Given the description of an element on the screen output the (x, y) to click on. 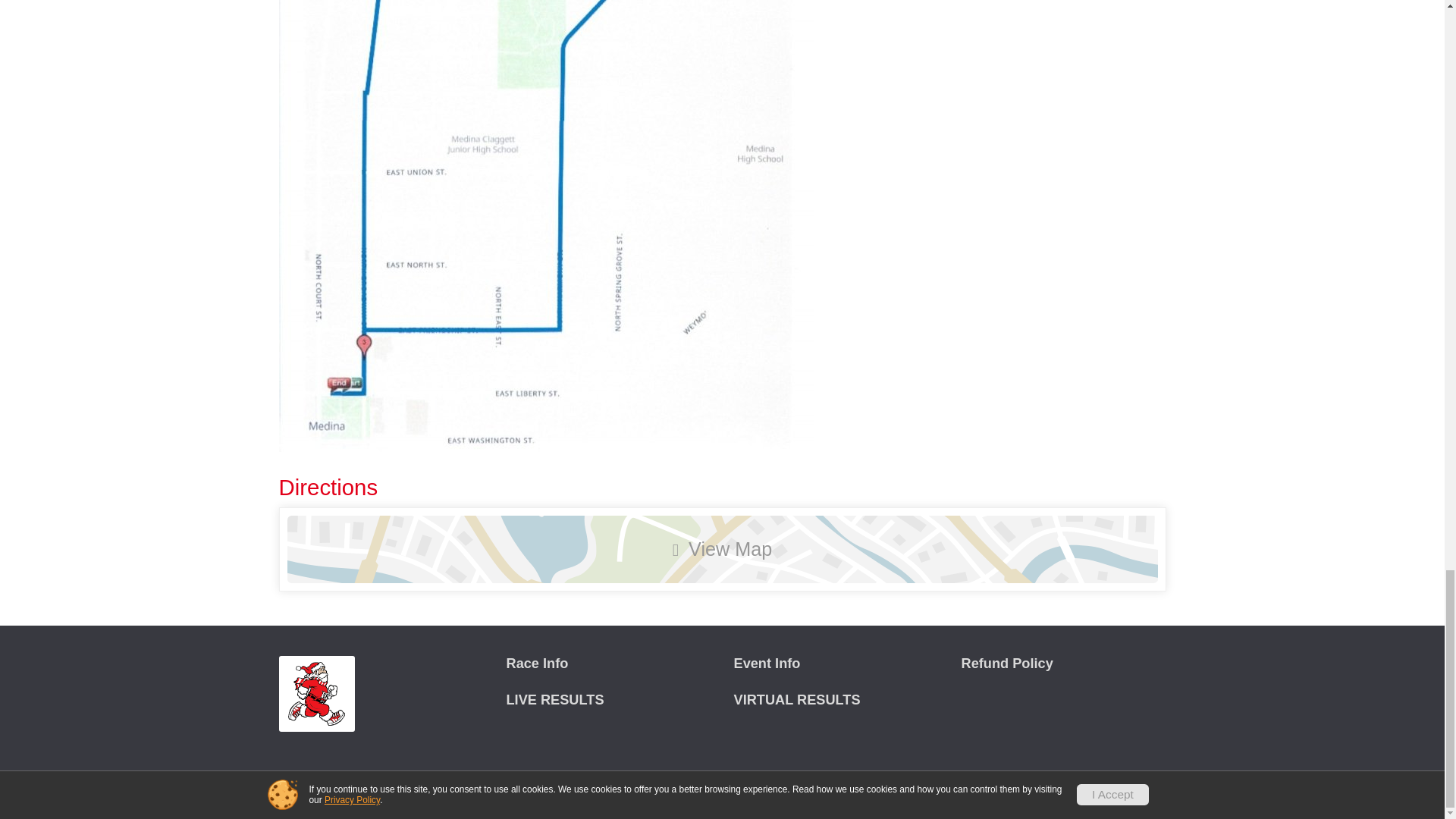
LIVE RESULTS (608, 700)
Race Info (608, 663)
Event Info (836, 663)
View Map (721, 549)
